Given the description of an element on the screen output the (x, y) to click on. 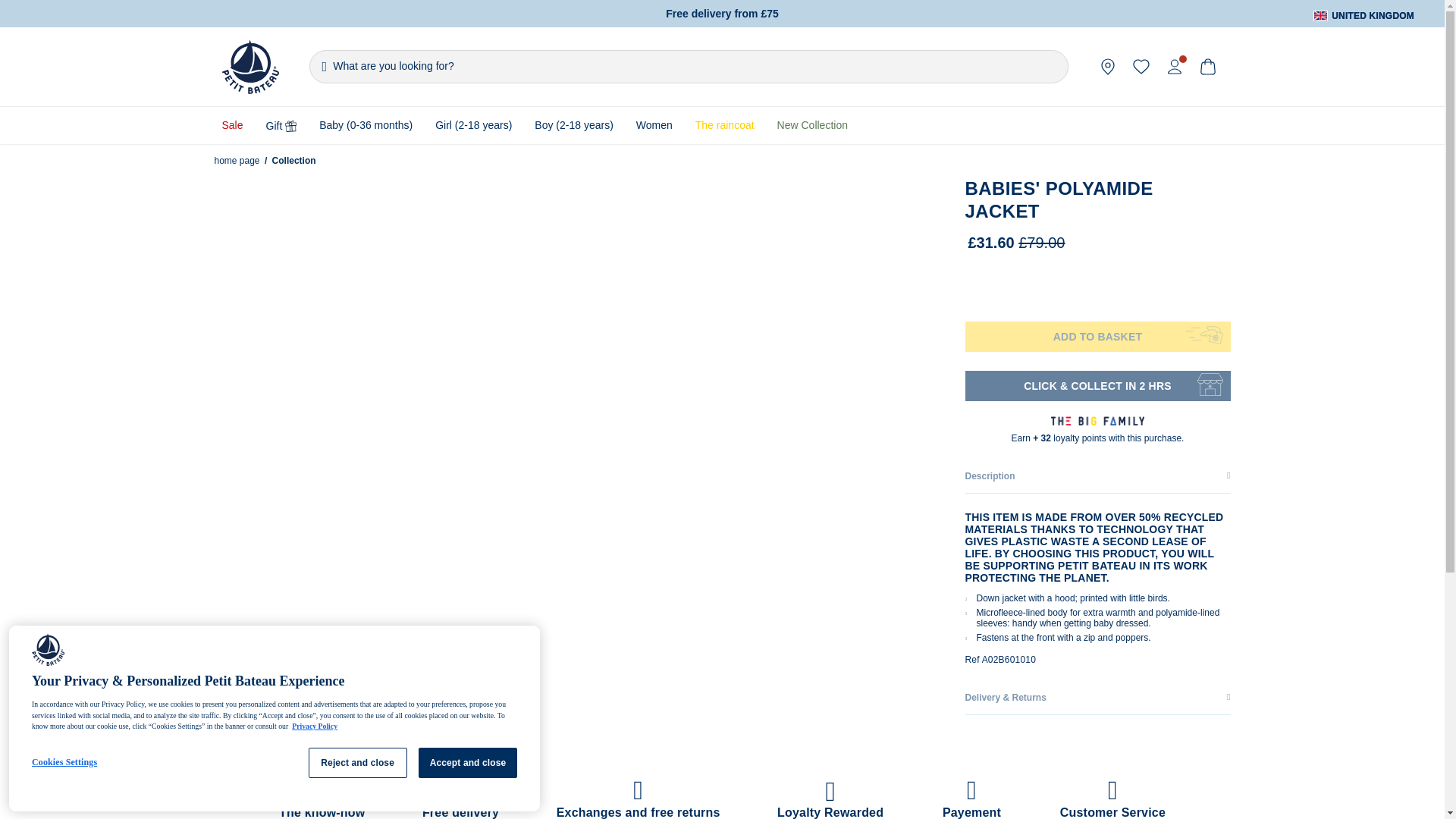
My account (1173, 66)
Petit Bateau (249, 66)
My basket (1206, 66)
